Given the description of an element on the screen output the (x, y) to click on. 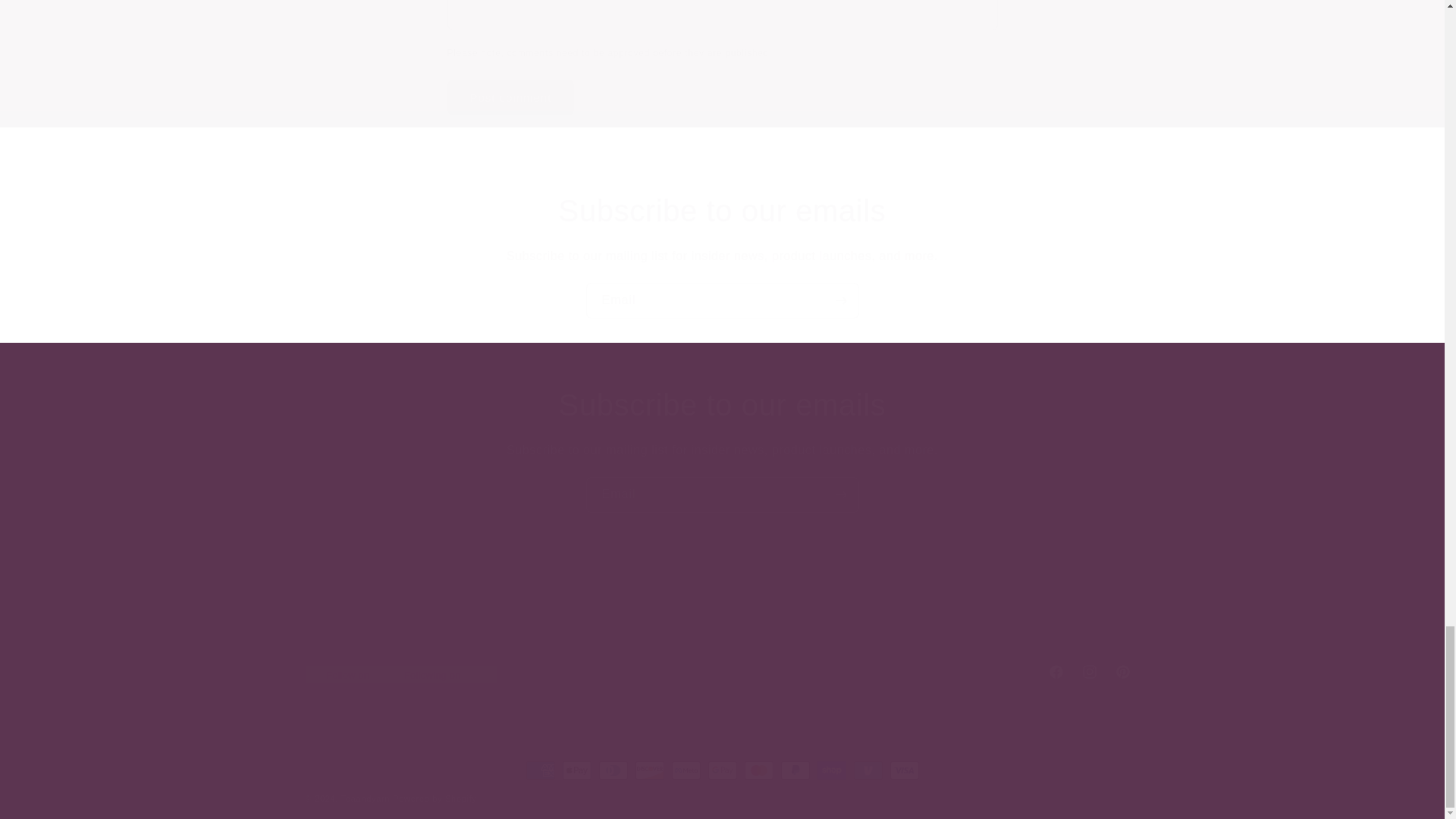
Post comment (510, 97)
Subscribe to our emails (721, 210)
Email (722, 494)
Email (722, 300)
Subscribe to our emails (721, 404)
Post comment (721, 671)
Search (510, 97)
